Given the description of an element on the screen output the (x, y) to click on. 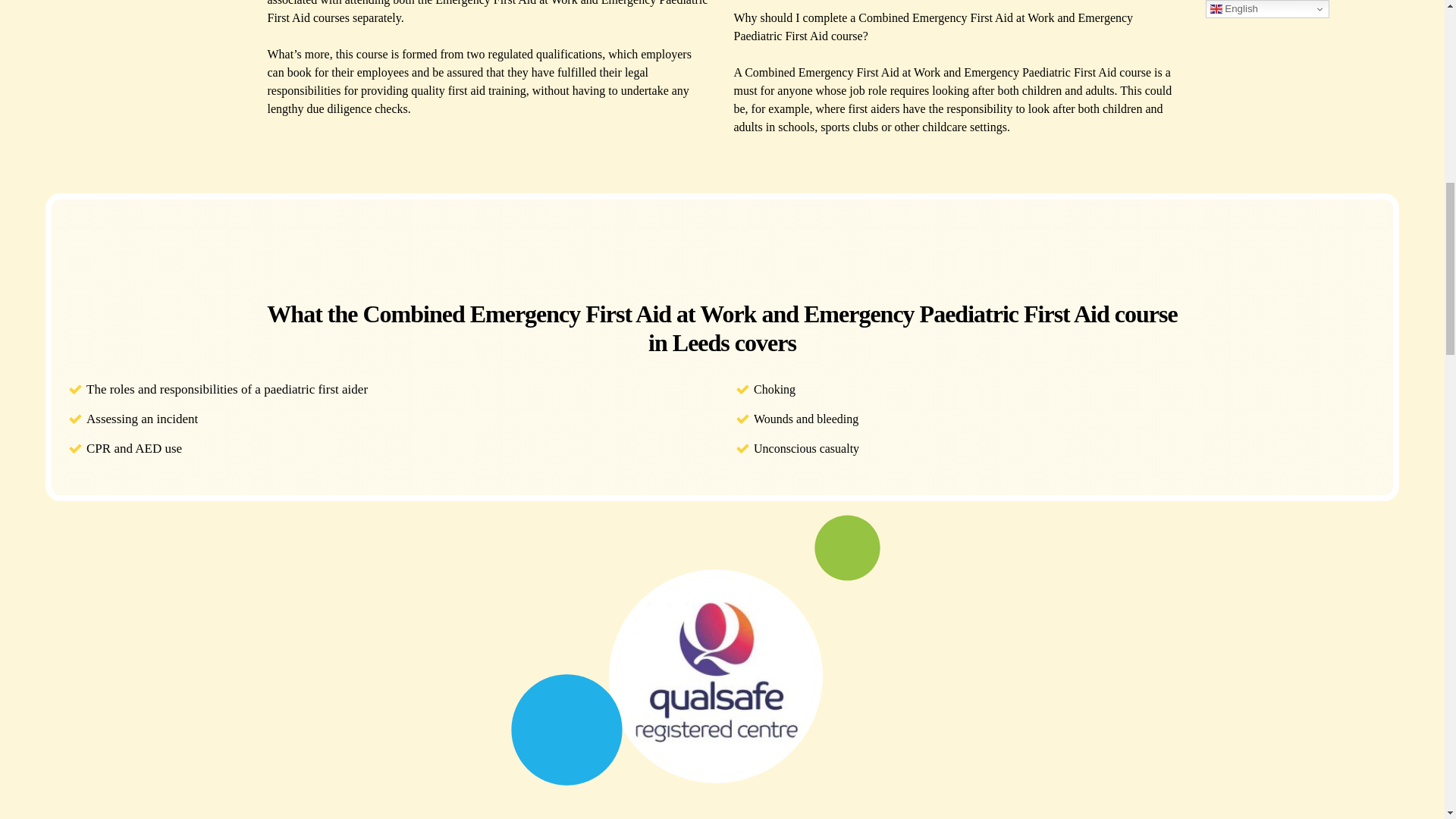
qualsafe-logo (715, 676)
